Given the description of an element on the screen output the (x, y) to click on. 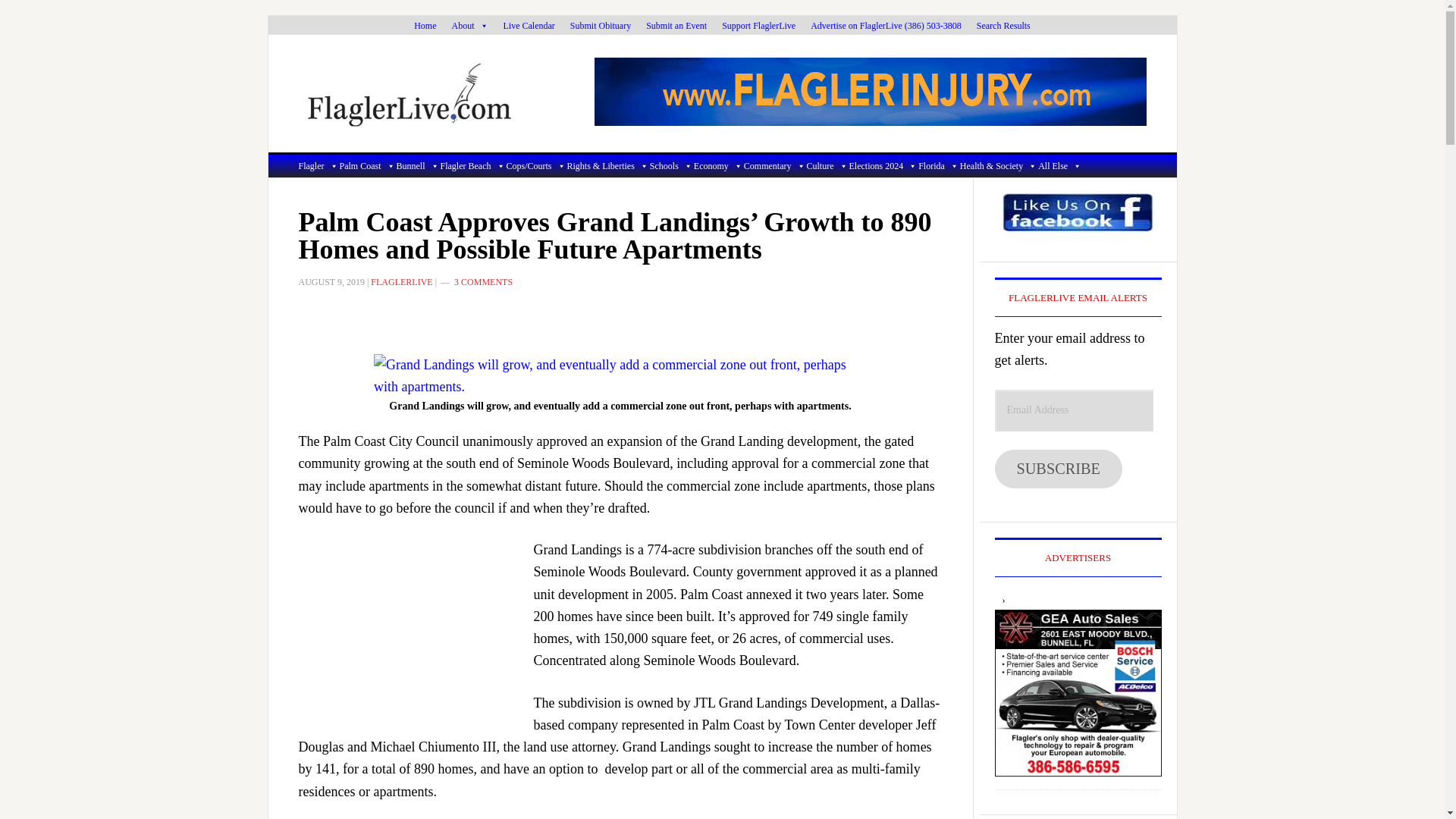
Search Results (1003, 25)
Submit an Event (676, 25)
FLAGLERLIVE (435, 93)
Bunnell (417, 165)
Flagler Beach (473, 165)
Flagler (317, 165)
About (470, 25)
Submit Obituary (600, 25)
Home (425, 25)
Palm Coast (366, 165)
